Given the description of an element on the screen output the (x, y) to click on. 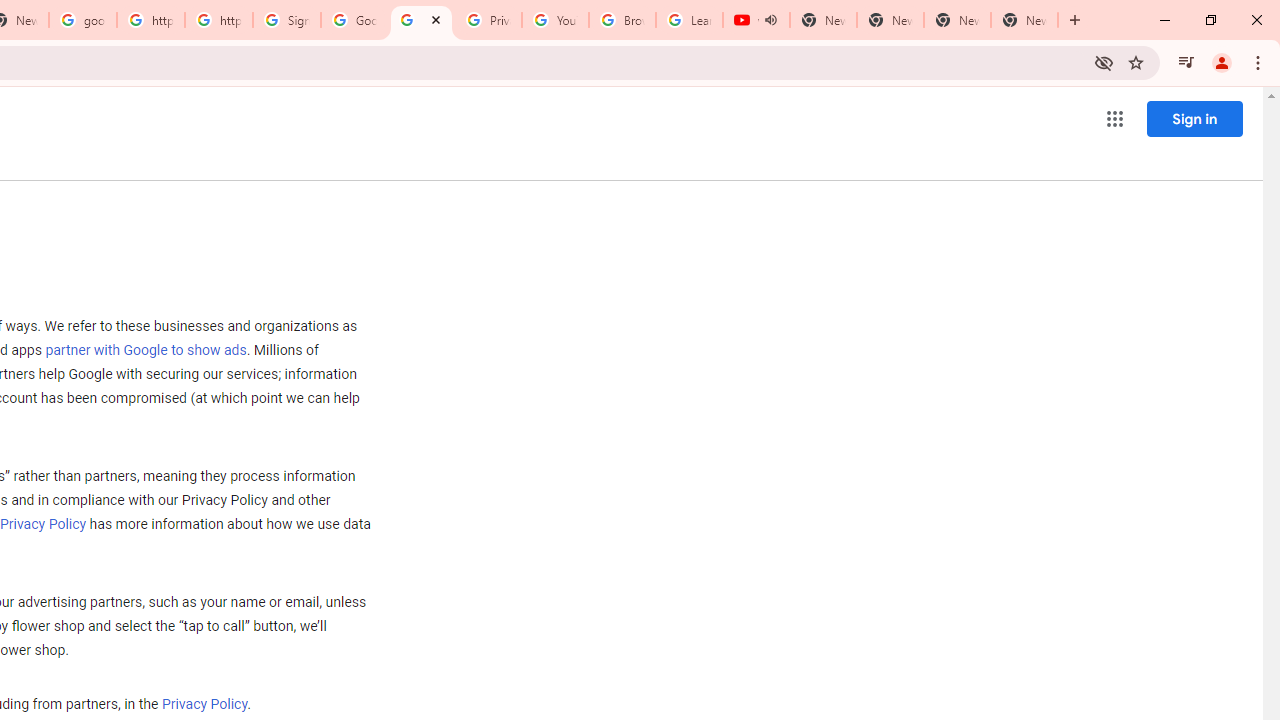
https://scholar.google.com/ (150, 20)
partner with Google to show ads (145, 351)
Sign in - Google Accounts (287, 20)
